Given the description of an element on the screen output the (x, y) to click on. 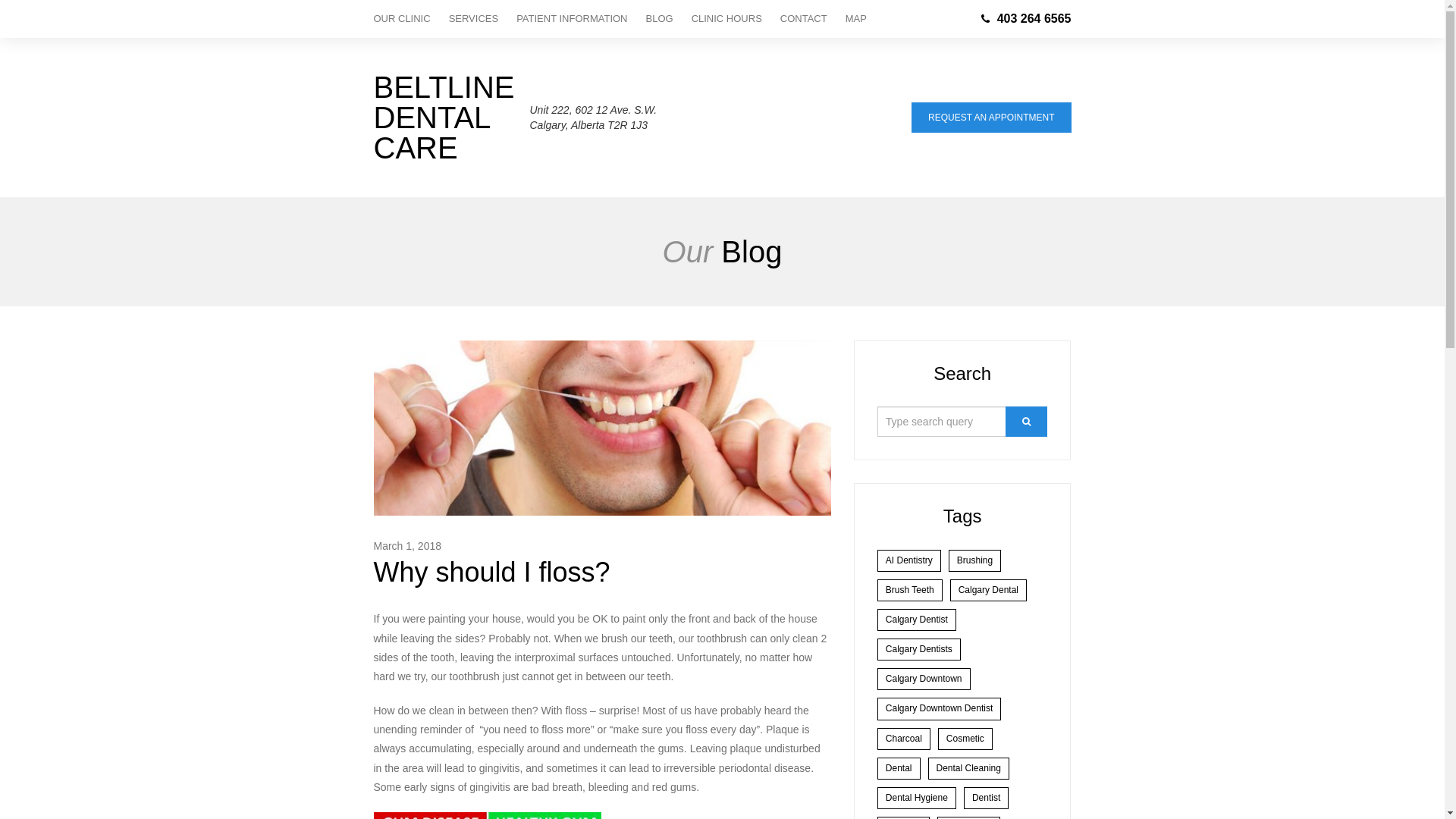
CLINIC HOURS Element type: text (726, 18)
Calgary Downtown Dentist Element type: text (939, 708)
Calgary Dentist Element type: text (916, 619)
Cosmetic Element type: text (965, 738)
Dental Hygiene Element type: text (916, 798)
Calgary Dental Element type: text (988, 590)
Calgary Dentists Element type: text (918, 649)
Dental Cleaning Element type: text (968, 768)
BLOG Element type: text (659, 18)
REQUEST AN APPOINTMENT Element type: text (990, 117)
BELTLINE DENTAL CARE Element type: text (443, 117)
OUR CLINIC Element type: text (406, 18)
AI Dentistry Element type: text (909, 560)
CONTACT Element type: text (803, 18)
Why should I floss? Element type: text (491, 571)
PATIENT INFORMATION Element type: text (571, 18)
Dentist Element type: text (985, 798)
SERVICES Element type: text (473, 18)
Dental Element type: text (898, 768)
Brush Teeth Element type: text (909, 590)
Brushing Element type: text (974, 560)
Calgary Downtown Element type: text (923, 679)
MAP Element type: text (851, 18)
Charcoal Element type: text (903, 738)
